Given the description of an element on the screen output the (x, y) to click on. 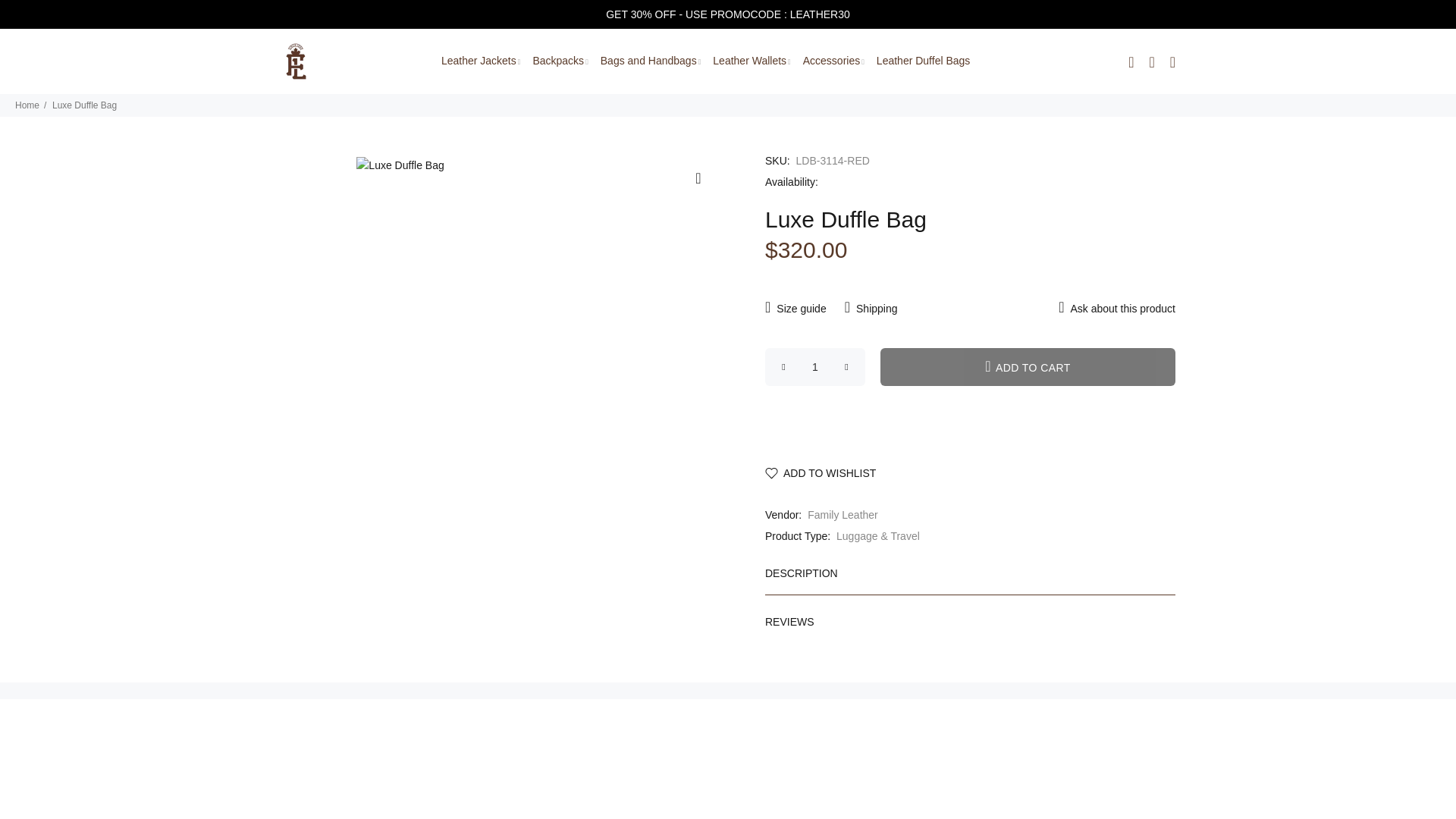
Accessories (833, 60)
Leather Wallets (751, 60)
Bags and Handbags (650, 60)
Leather Duffel Bags (920, 60)
Leather Jackets (479, 60)
Backpacks (559, 60)
1 (814, 366)
